Given the description of an element on the screen output the (x, y) to click on. 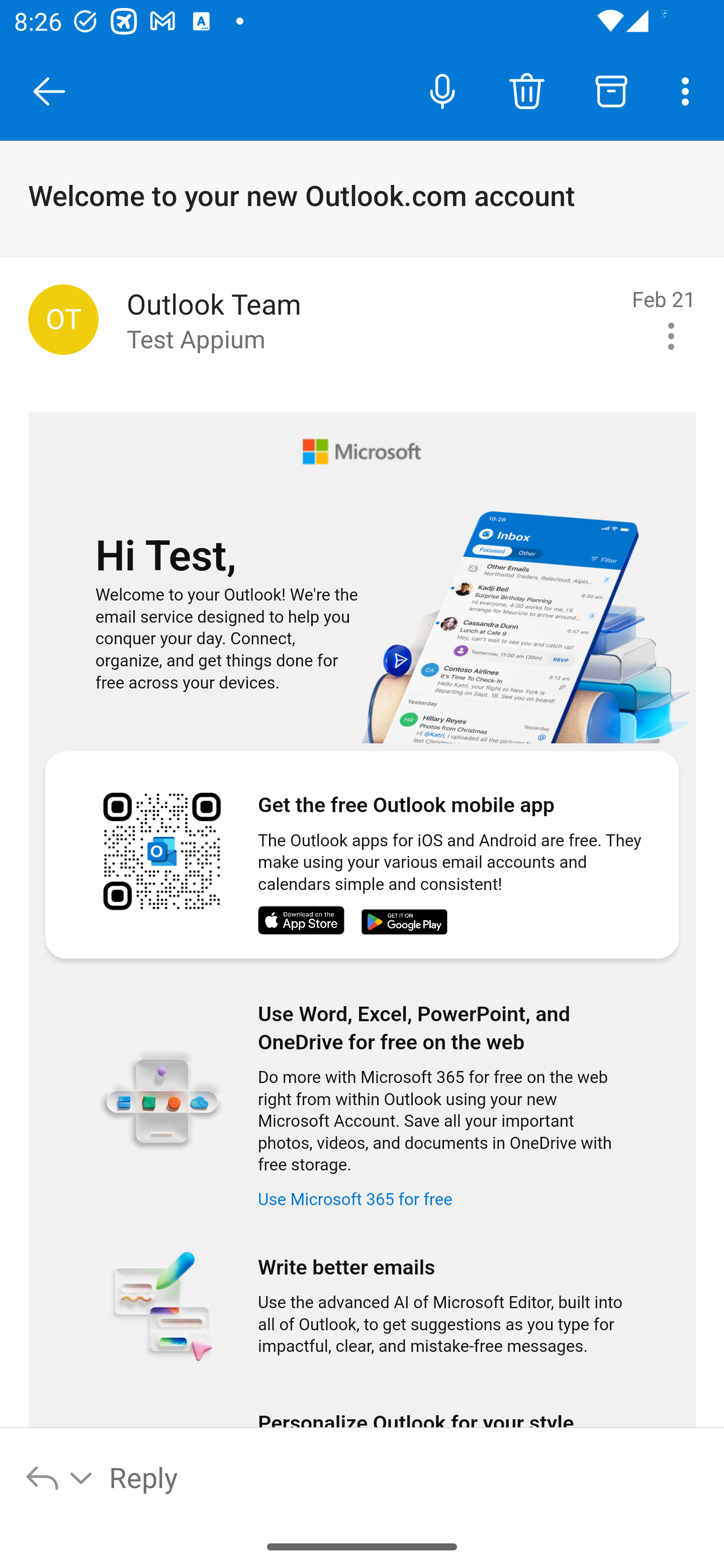
Close (49, 91)
Delete (526, 90)
Archive (611, 90)
More options (688, 90)
Outlook Team, no-reply@microsoft.com (63, 318)
Outlook Team
to Test Appium (371, 319)
Message actions (671, 336)
?linkid=2243825 (527, 609)
Download on the App Store (307, 921)
Get it on Google Play (403, 923)
?linkid=2243723 (161, 1103)
Use Microsoft 365 for free (360, 1198)
Reply options (59, 1476)
